Given the description of an element on the screen output the (x, y) to click on. 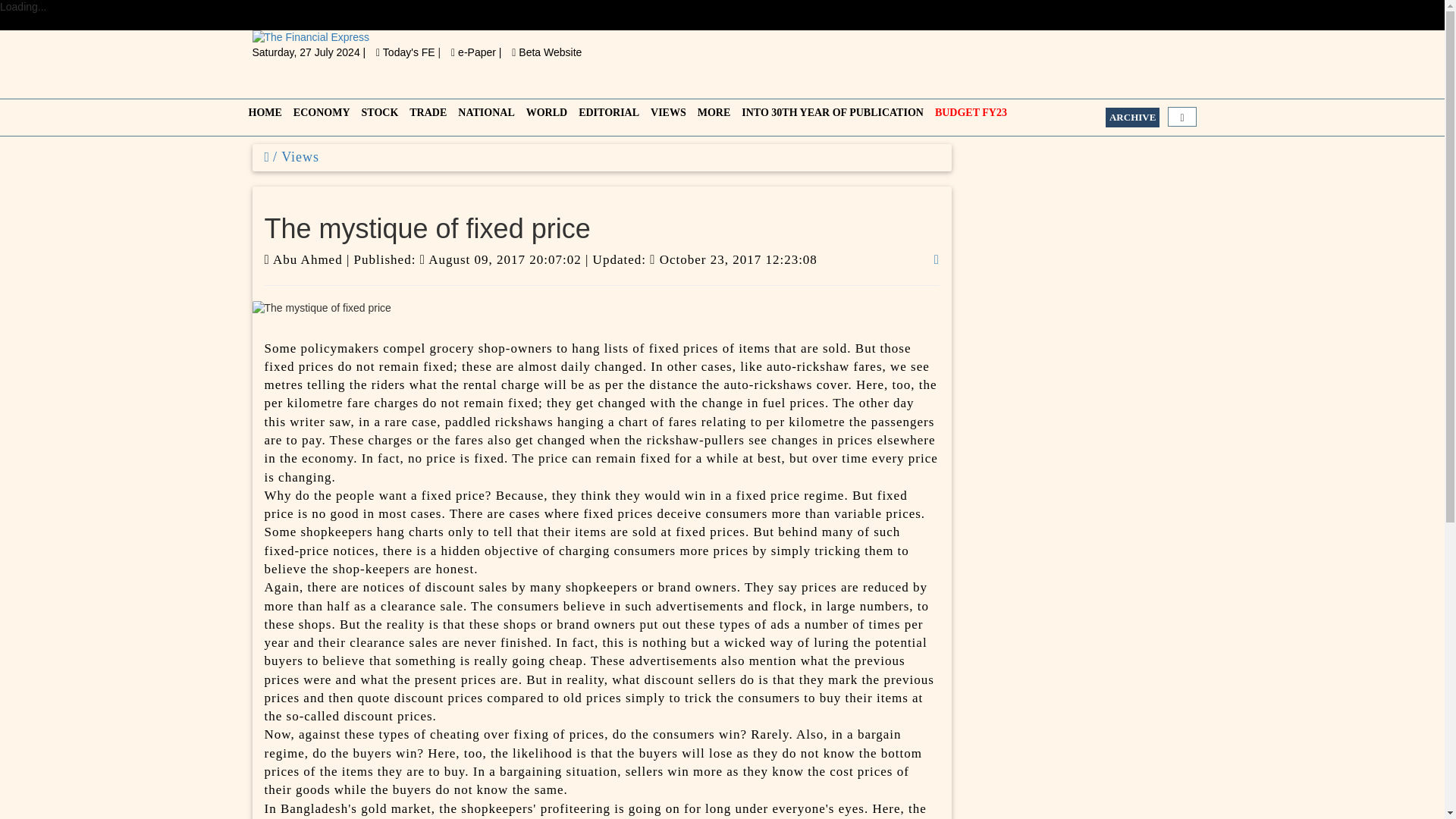
TRADE (425, 117)
EDITORIAL (606, 117)
ARCHIVE (1131, 117)
HOME (263, 117)
Beta Website (546, 51)
VIEWS (666, 117)
WORLD (544, 117)
MORE (712, 117)
STOCK (378, 117)
ECONOMY (319, 117)
Today's FE (406, 51)
NATIONAL (483, 117)
